Given the description of an element on the screen output the (x, y) to click on. 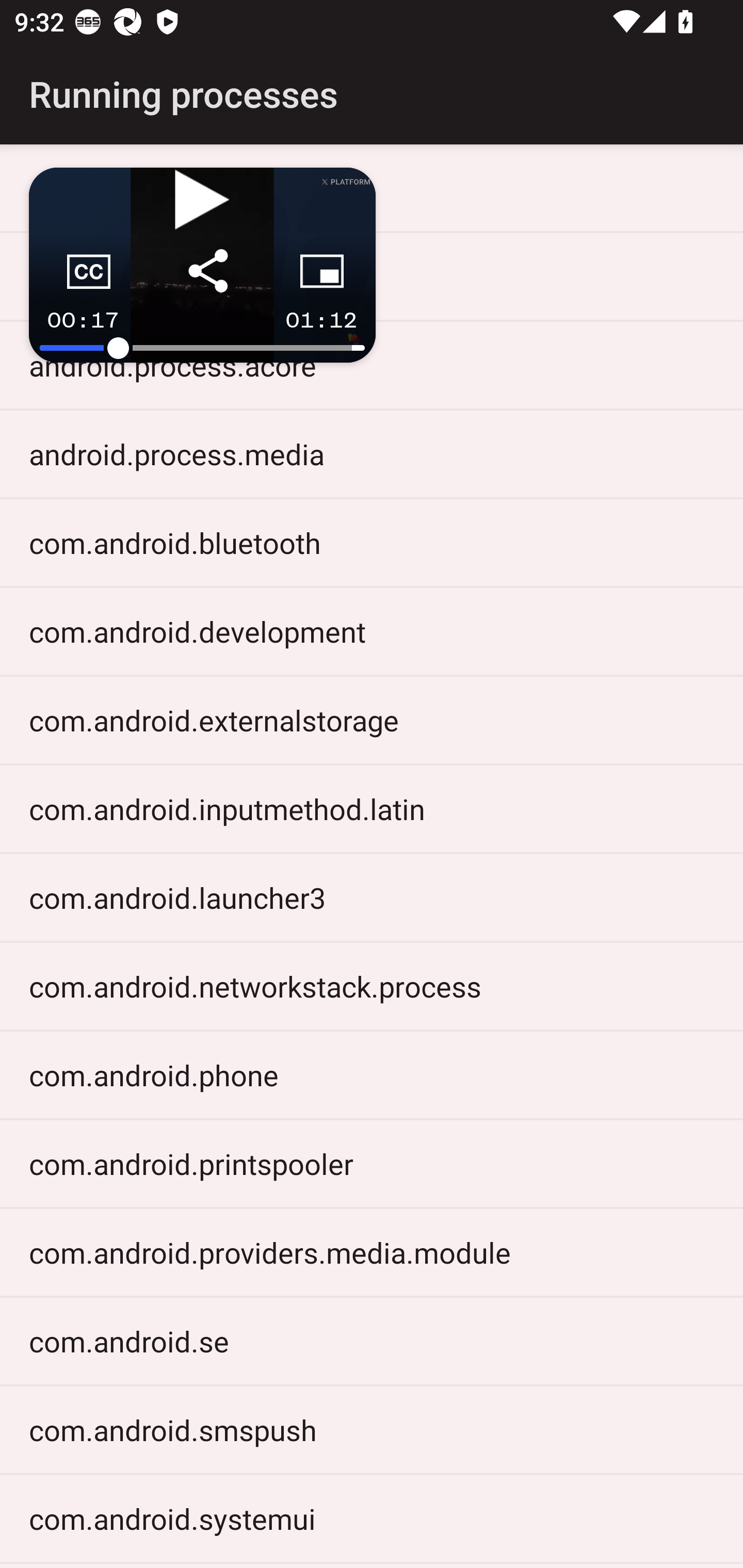
android.process.media (371, 453)
com.android.bluetooth (371, 542)
com.android.development (371, 631)
com.android.externalstorage (371, 720)
com.android.inputmethod.latin (371, 808)
com.android.launcher3 (371, 897)
com.android.networkstack.process (371, 986)
com.android.phone (371, 1074)
com.android.printspooler (371, 1163)
com.android.providers.media.module (371, 1251)
com.android.se (371, 1341)
com.android.smspush (371, 1429)
com.android.systemui (371, 1518)
